Given the description of an element on the screen output the (x, y) to click on. 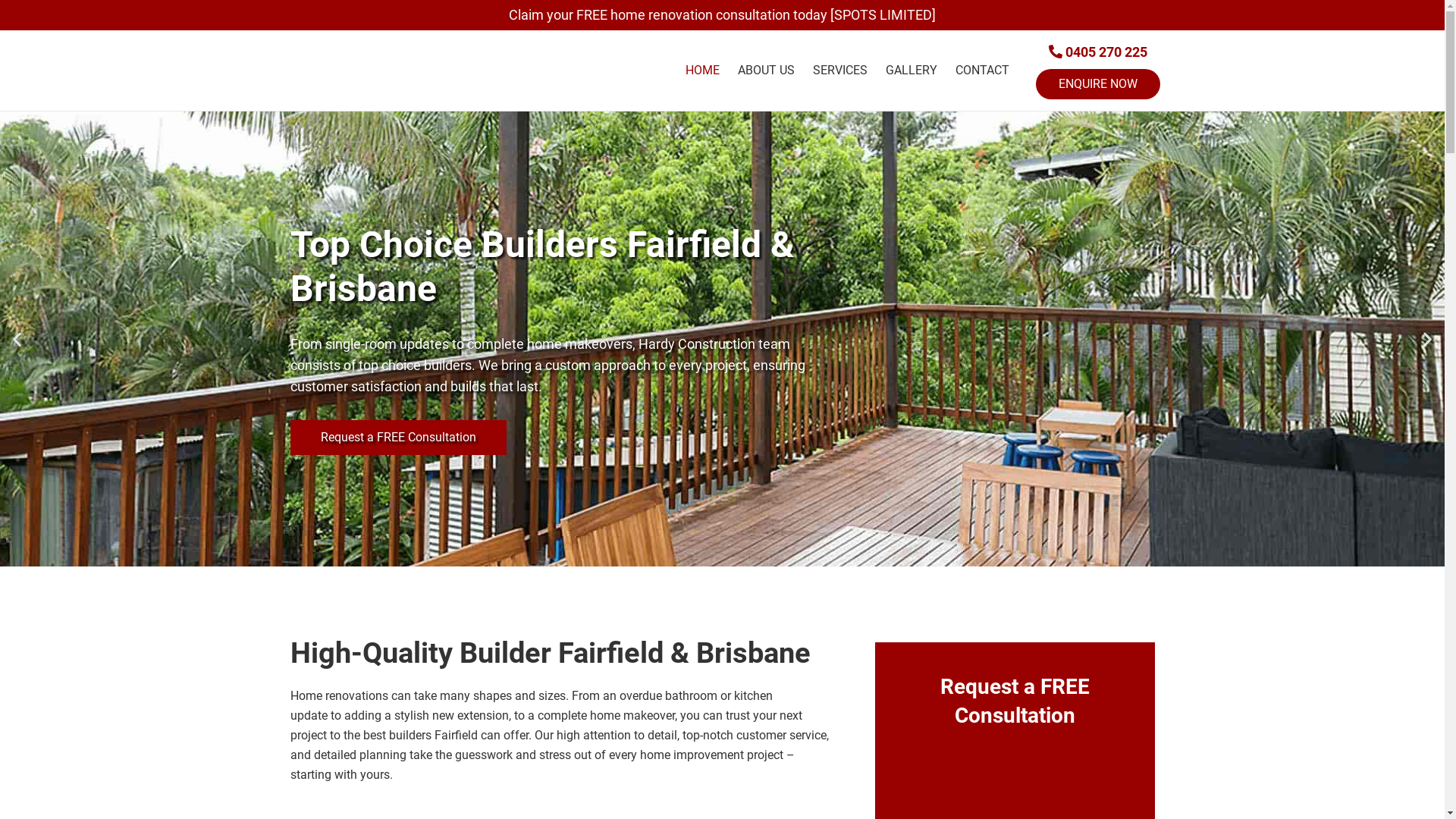
CONTACT Element type: text (982, 70)
GALLERY Element type: text (911, 70)
ABOUT US Element type: text (765, 70)
0405 270 225 Element type: text (1097, 51)
ENQUIRE NOW Element type: text (1097, 84)
Request a FREE Consultation Element type: text (397, 437)
SERVICES Element type: text (839, 70)
HOME Element type: text (702, 70)
